Given the description of an element on the screen output the (x, y) to click on. 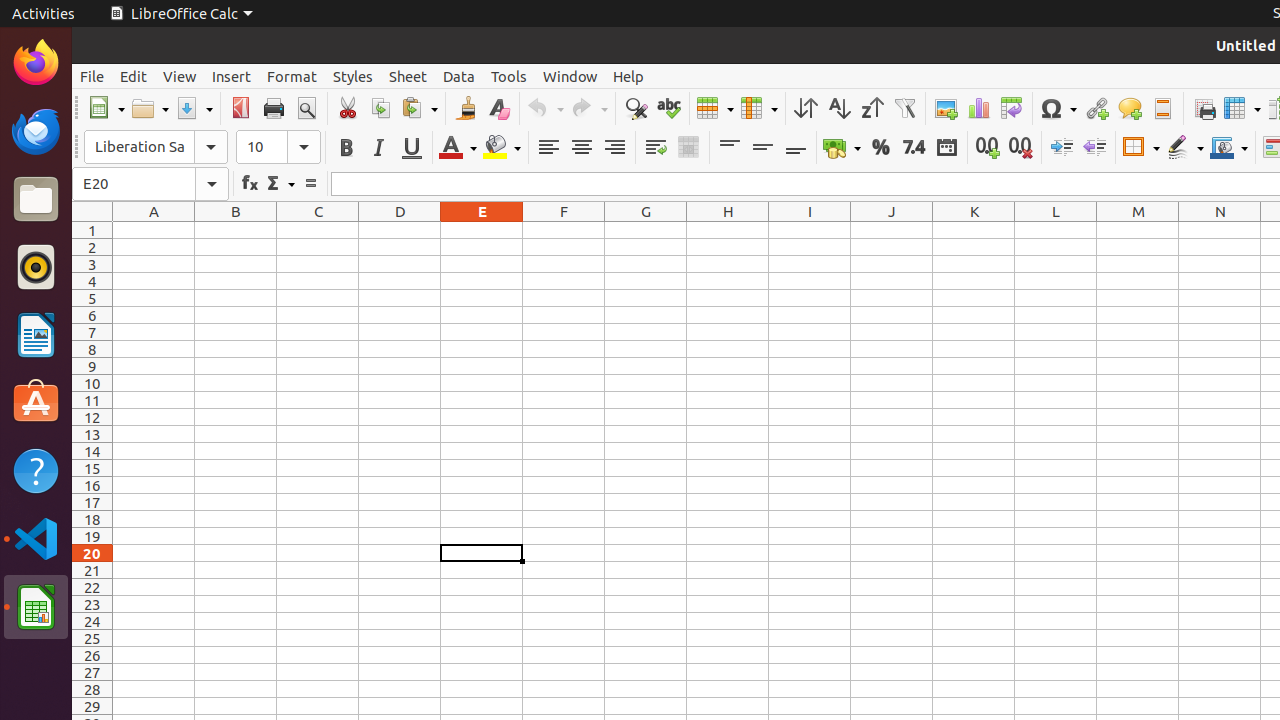
N1 Element type: table-cell (1220, 230)
Freeze Rows and Columns Element type: push-button (1242, 108)
Font Size Element type: combo-box (278, 147)
Files Element type: push-button (36, 199)
L1 Element type: table-cell (1056, 230)
